Given the description of an element on the screen output the (x, y) to click on. 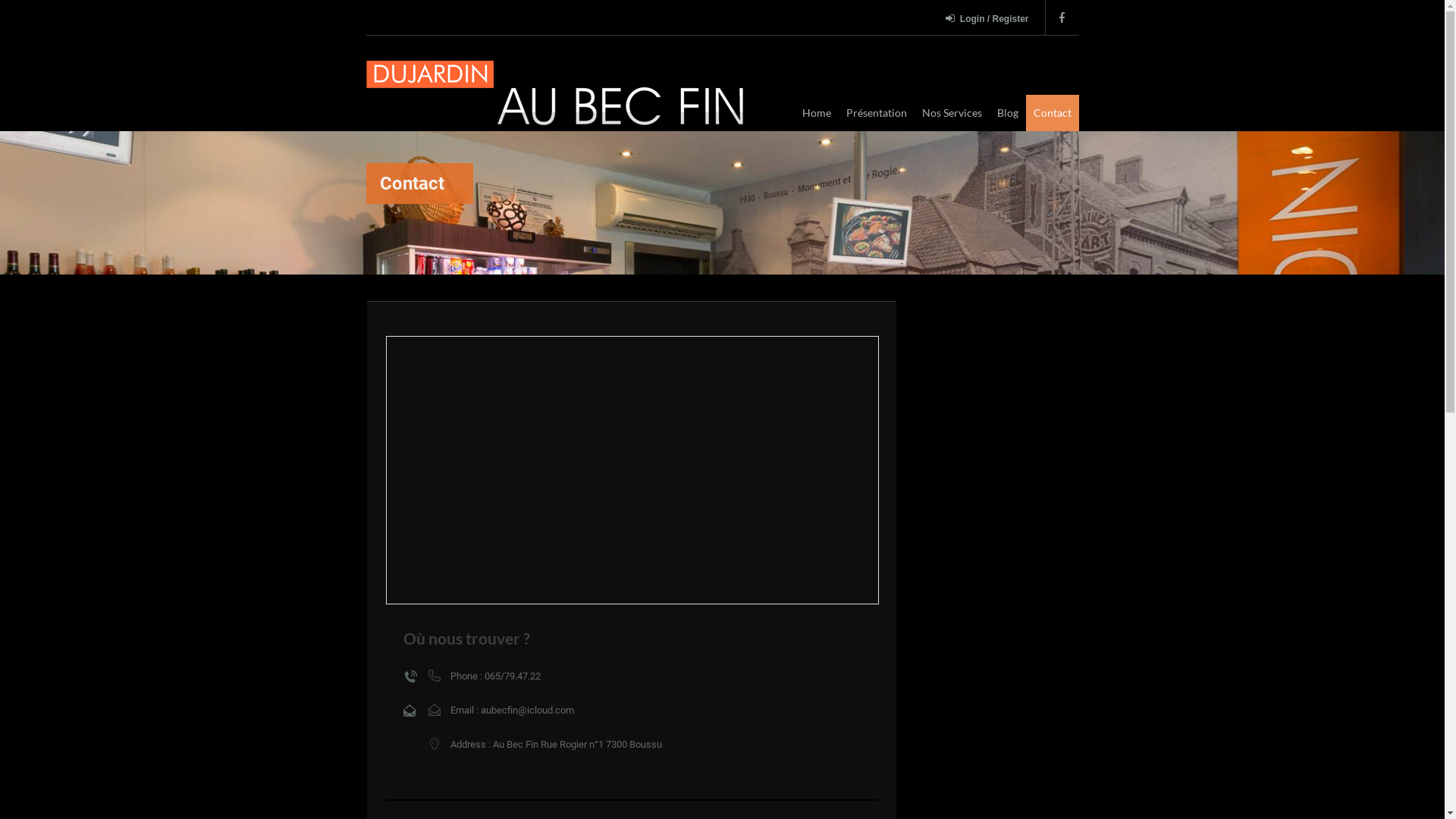
Login / Register Element type: text (990, 19)
aubecfin@icloud.com Element type: text (527, 709)
Home Element type: text (816, 112)
Contact Element type: text (1051, 112)
Nos Services Element type: text (951, 112)
Au Bec Fin Element type: hover (558, 94)
Blog Element type: text (1006, 112)
